Given the description of an element on the screen output the (x, y) to click on. 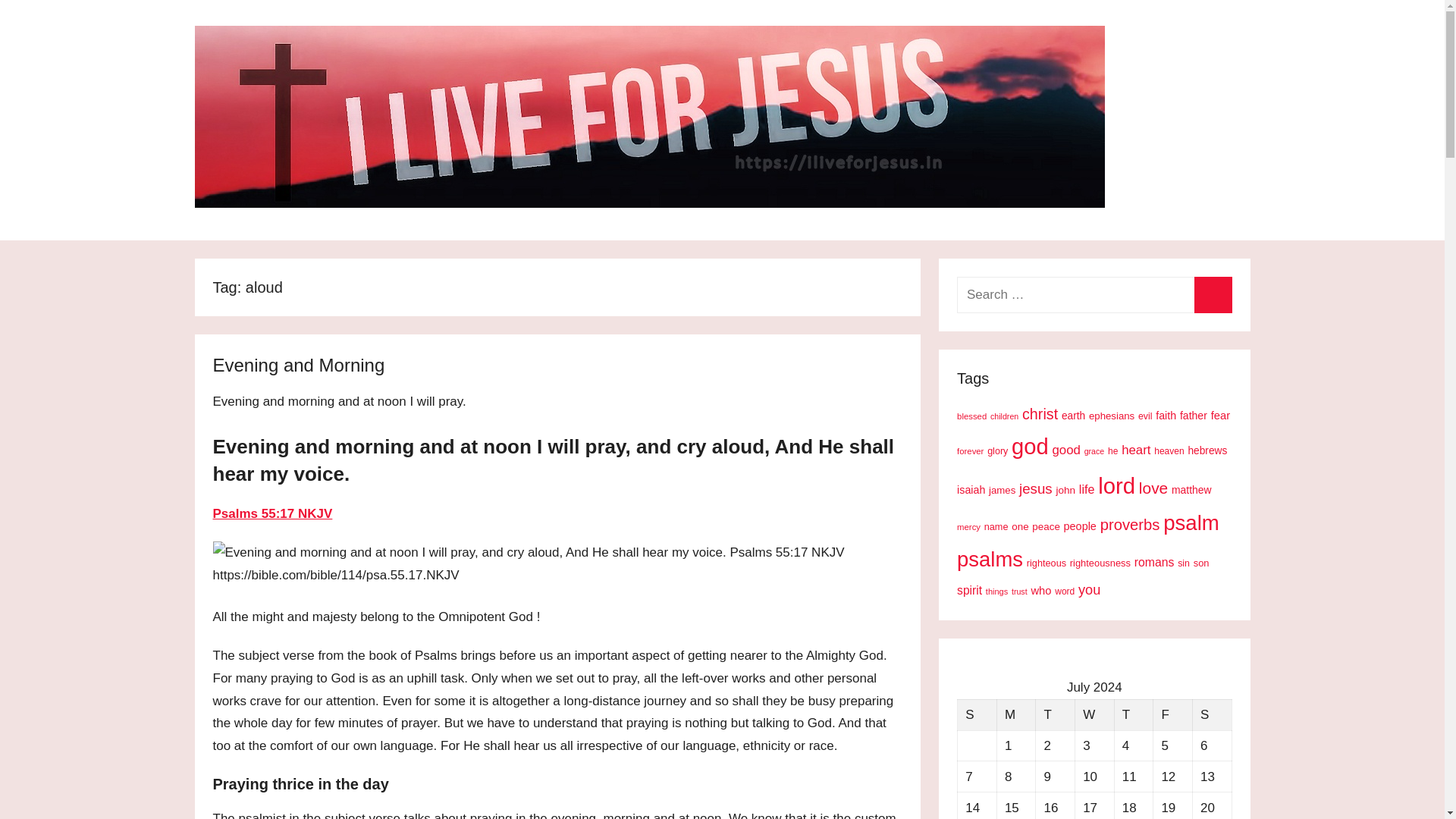
Sunday (977, 714)
Monday (1015, 714)
mercy (967, 526)
isaiah (970, 490)
Friday (1172, 714)
blessed (971, 415)
Psalms 55:17 NKJV (271, 513)
john (1065, 490)
heaven (1168, 450)
Tuesday (1055, 714)
lord (1116, 485)
matthew (1191, 490)
ephesians (1111, 415)
Search for: (1093, 294)
children (1003, 415)
